Given the description of an element on the screen output the (x, y) to click on. 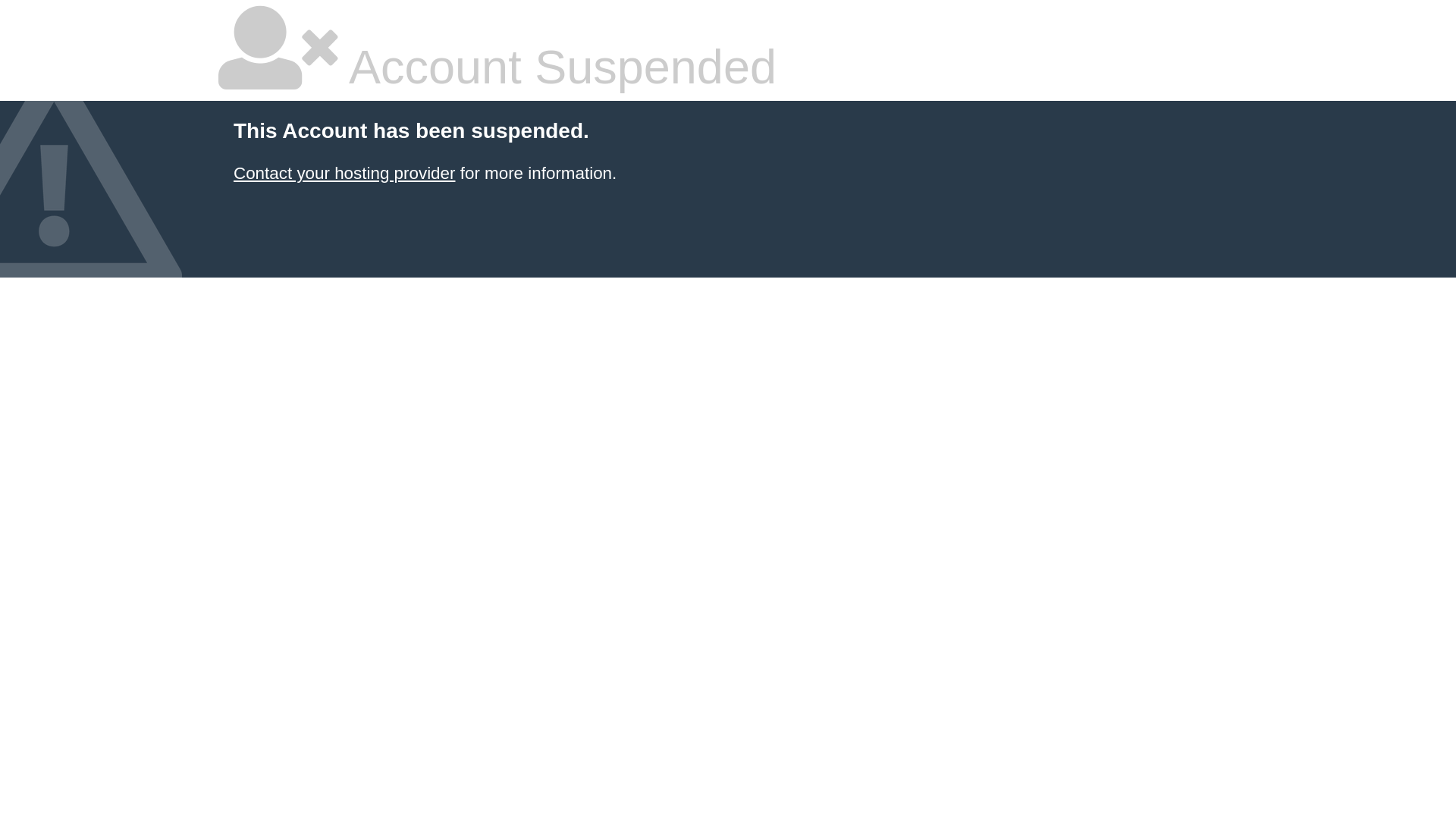
Contact your hosting provider Element type: text (344, 172)
